Given the description of an element on the screen output the (x, y) to click on. 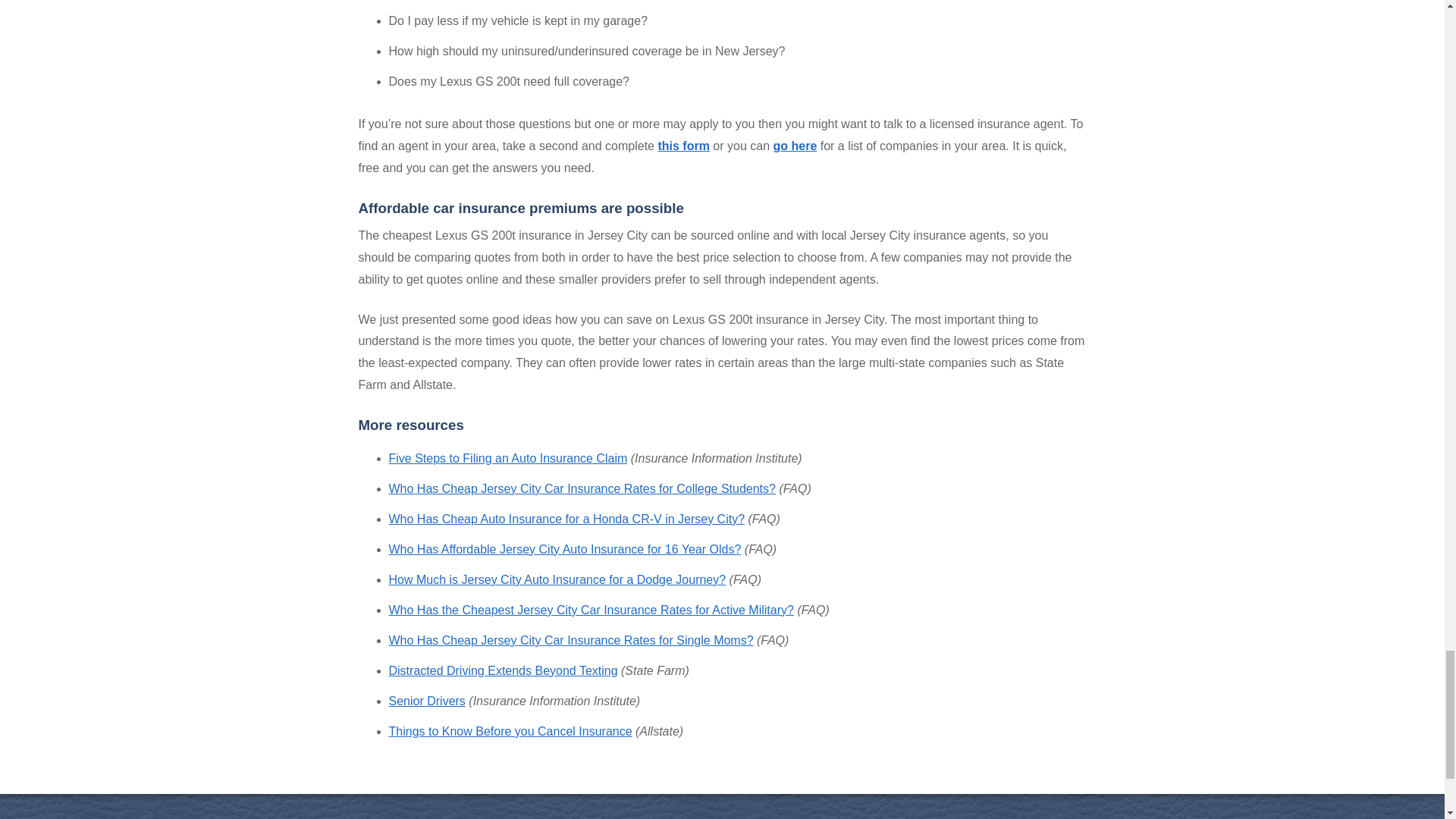
go here (794, 145)
How Much is Jersey City Auto Insurance for a Dodge Journey? (556, 579)
Things to Know Before you Cancel Insurance (509, 730)
Five Steps to Filing an Auto Insurance Claim (507, 458)
this form (683, 145)
Distracted Driving Extends Beyond Texting (502, 670)
Senior Drivers (426, 700)
